Given the description of an element on the screen output the (x, y) to click on. 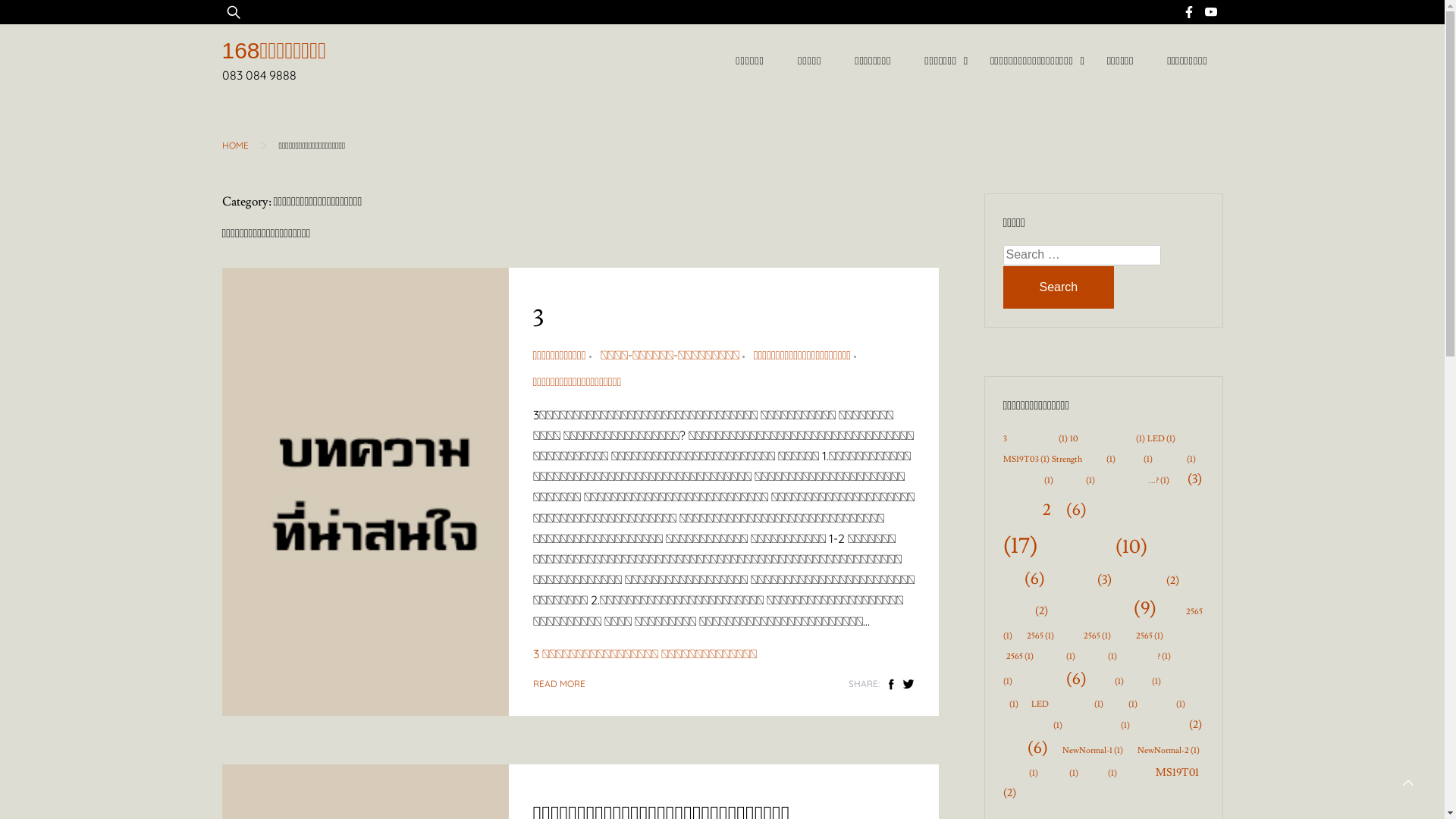
Search Element type: text (1057, 287)
Search Element type: text (55, 21)
HOME Element type: text (234, 144)
MS19T03 (1) Element type: text (1025, 459)
READ MORE Element type: text (558, 683)
LED (1) Element type: text (1160, 438)
